Given the description of an element on the screen output the (x, y) to click on. 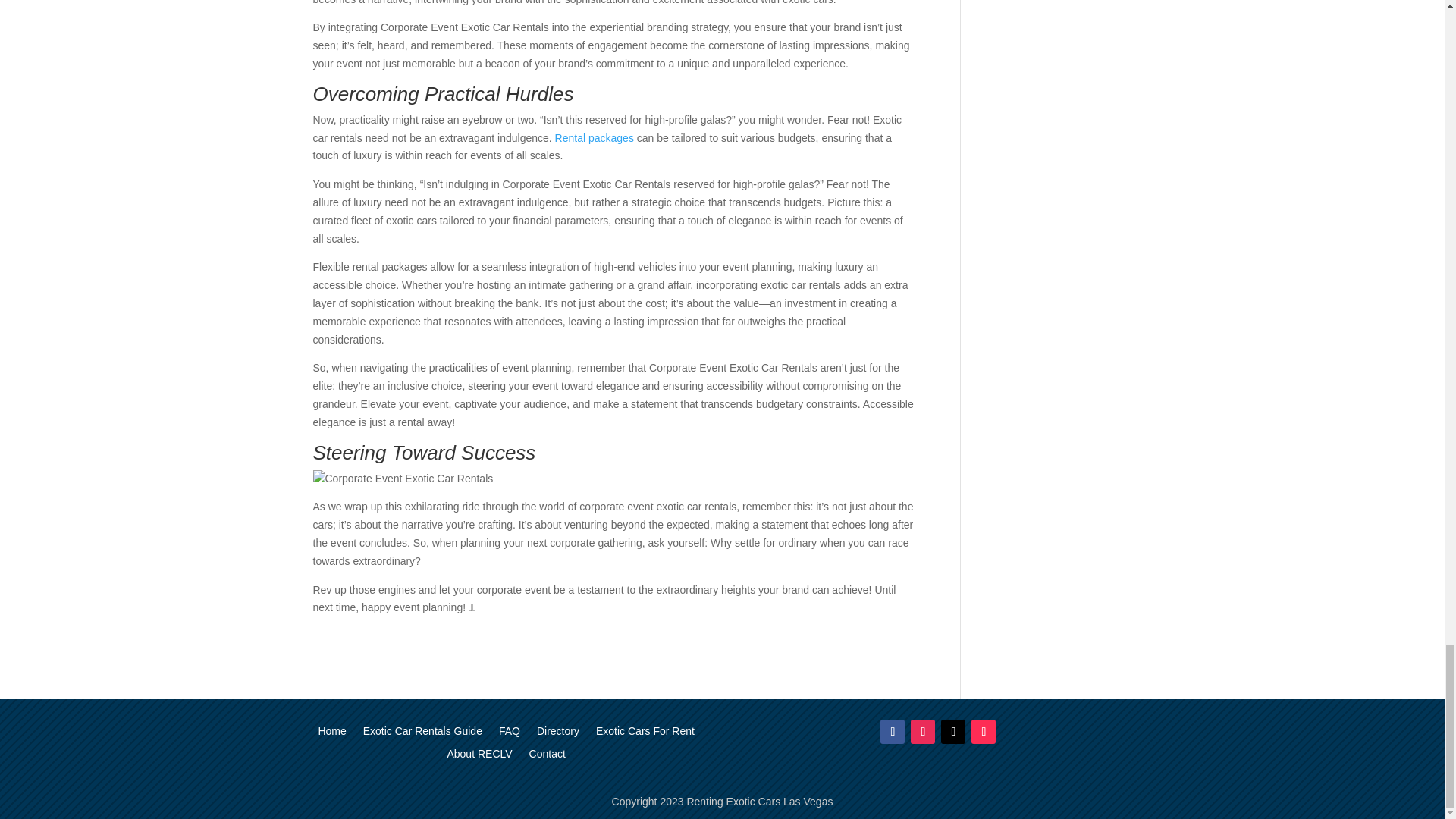
About RECLV (479, 756)
Follow on X (952, 731)
Rental packages (593, 137)
FAQ (509, 733)
Directory (558, 733)
Exotic Cars For Rent (644, 733)
Contact (547, 756)
Follow on Facebook (892, 731)
Follow on TikTok (983, 731)
Follow on Instagram (922, 731)
